Given the description of an element on the screen output the (x, y) to click on. 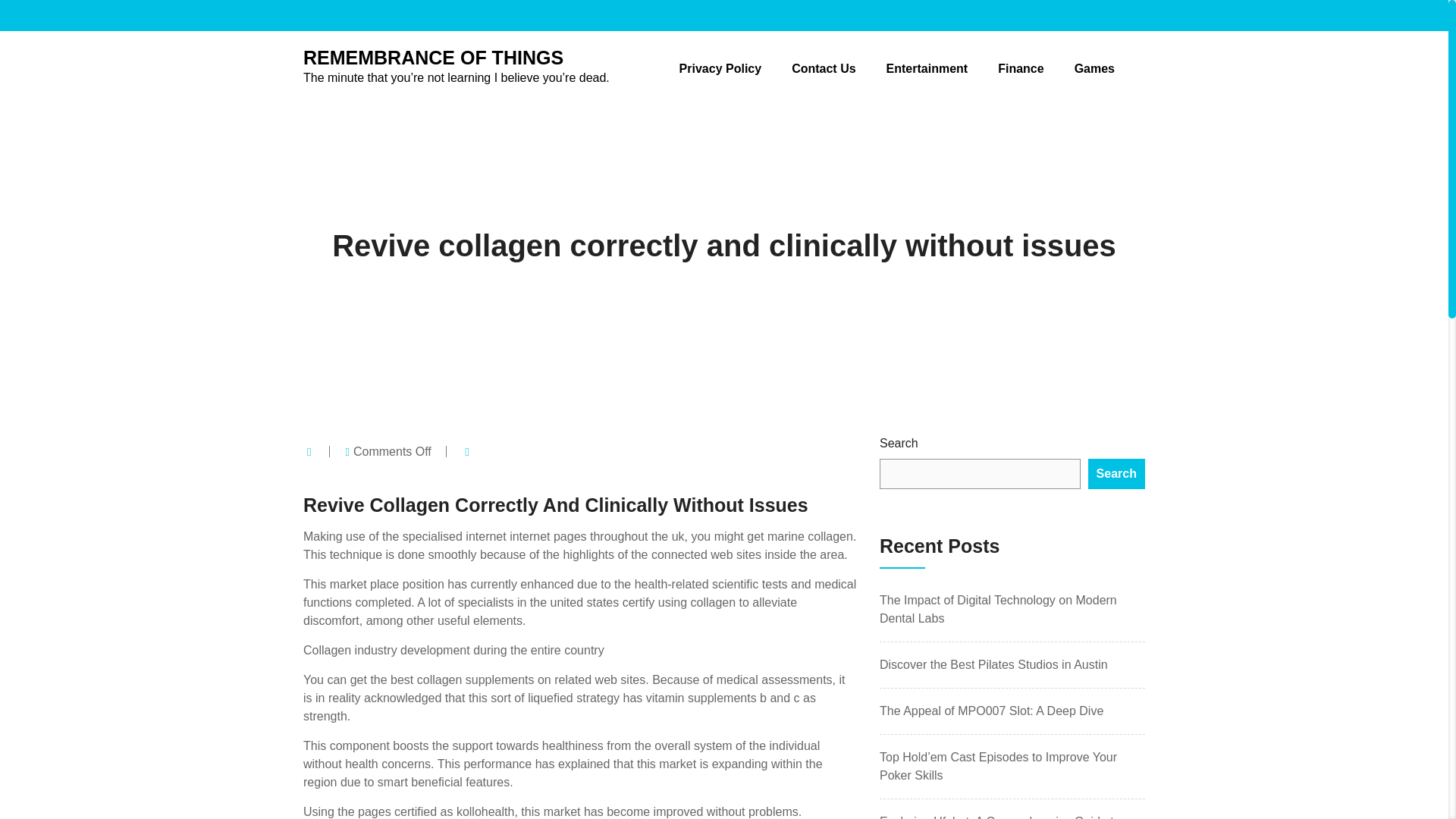
Entertainment (927, 68)
Finance (1020, 68)
Search (1115, 473)
Privacy Policy (720, 68)
Contact Us (824, 68)
The Impact of Digital Technology on Modern Dental Labs (997, 608)
Discover the Best Pilates Studios in Austin (993, 664)
Revive collagen correctly and clinically without issues (723, 245)
The Appeal of MPO007 Slot: A Deep Dive (991, 710)
